Given the description of an element on the screen output the (x, y) to click on. 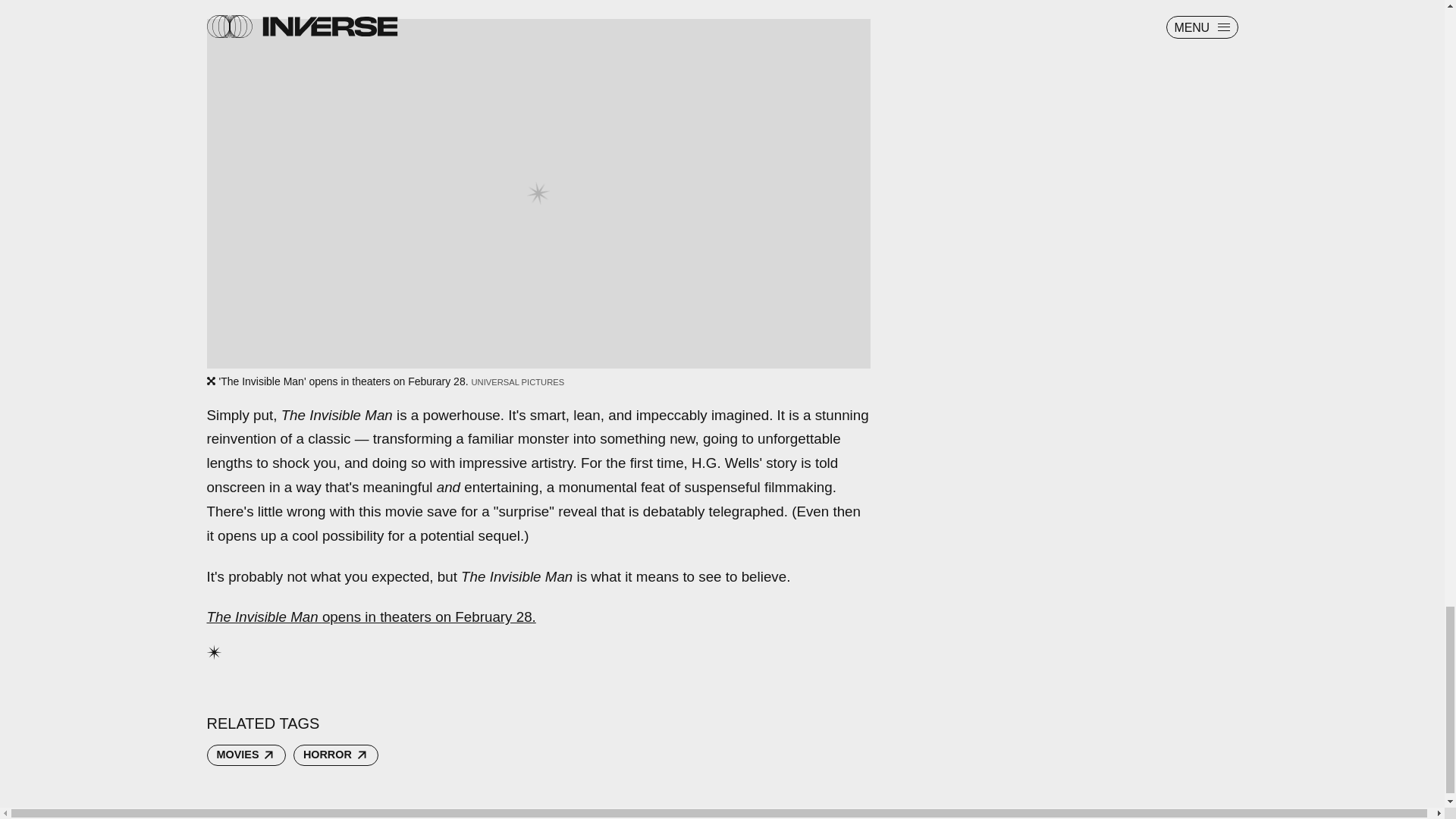
HORROR (336, 754)
MOVIES (245, 754)
